Given the description of an element on the screen output the (x, y) to click on. 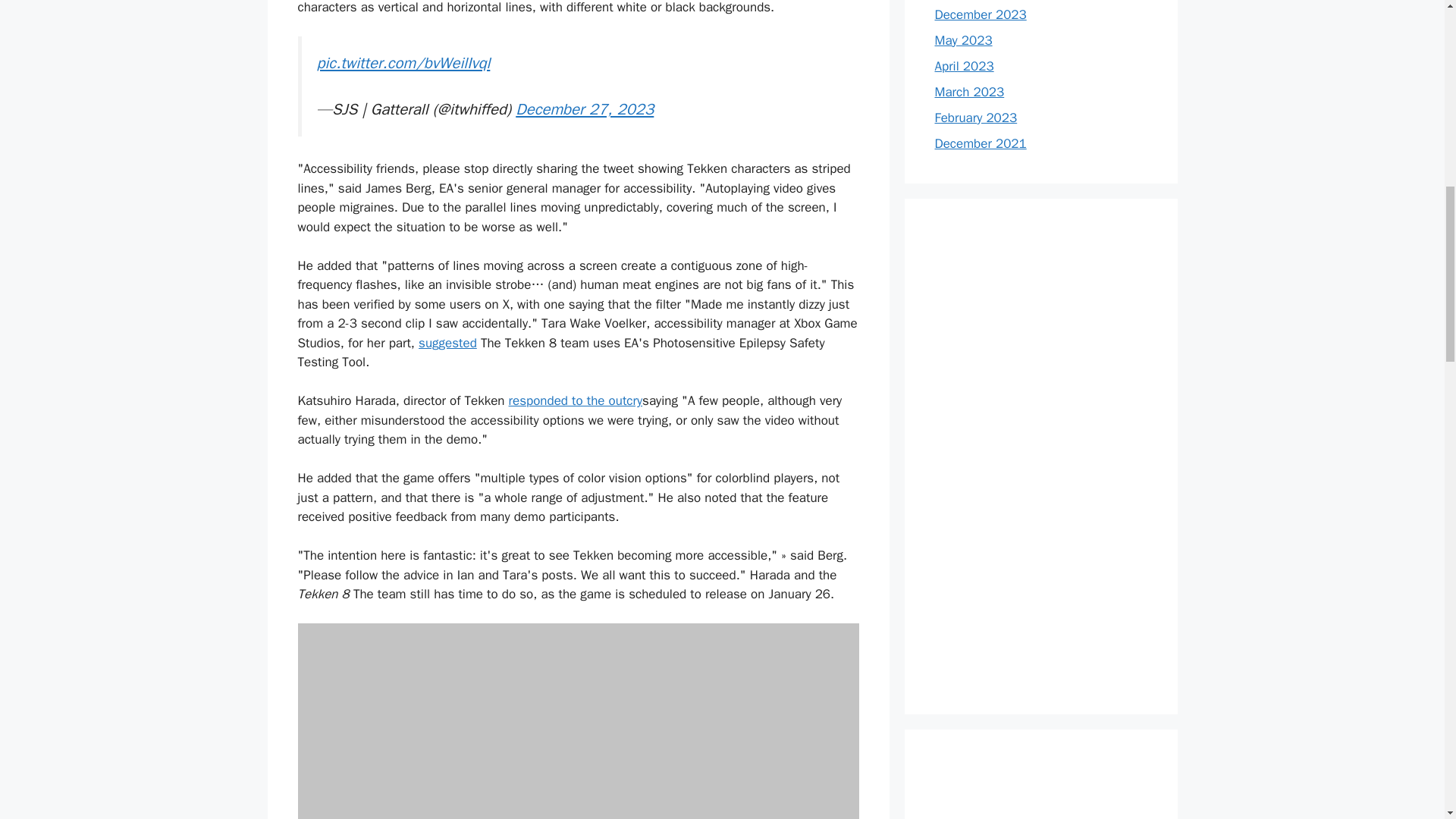
Advertisement (1040, 789)
March 2023 (969, 91)
suggested (448, 342)
December 27, 2023 (584, 108)
responded to the outcry (575, 400)
February 2023 (975, 117)
December 2023 (980, 14)
December 2021 (980, 143)
May 2023 (962, 40)
April 2023 (963, 66)
